Given the description of an element on the screen output the (x, y) to click on. 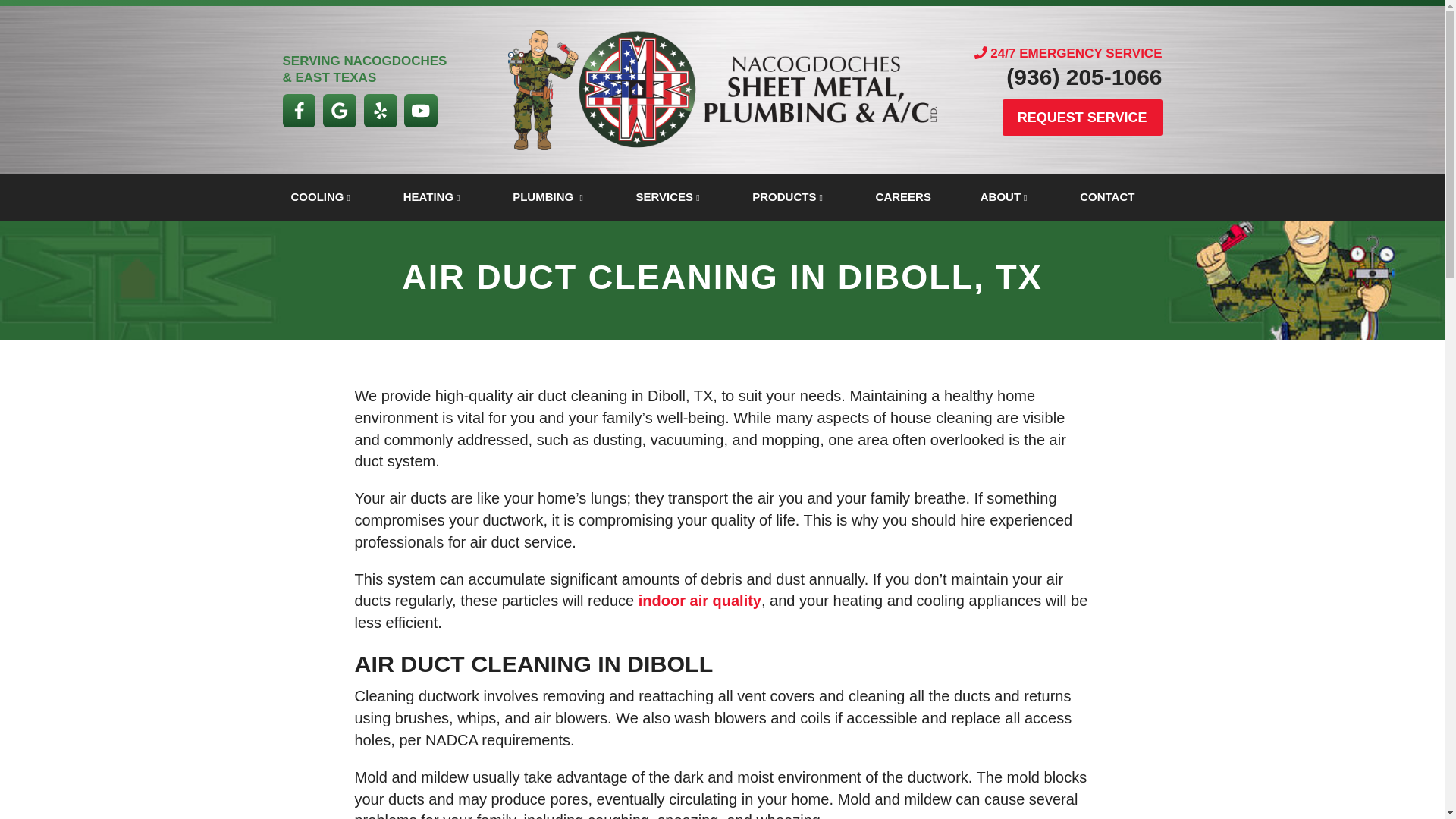
REQUEST SERVICE (1082, 117)
PLUMBING  (558, 197)
HEATING (443, 197)
COOLING (331, 197)
SERVICES (679, 197)
